Given the description of an element on the screen output the (x, y) to click on. 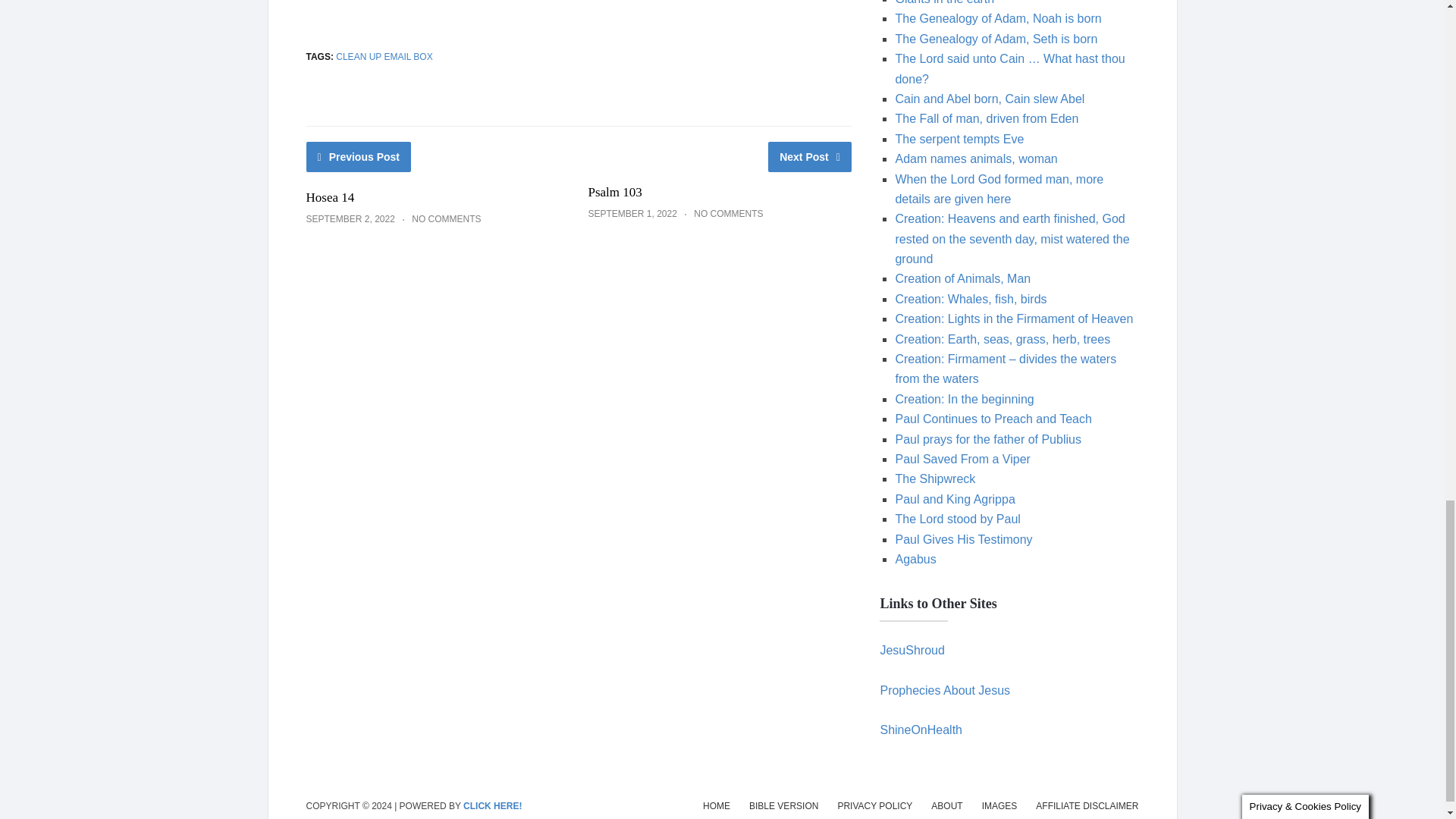
Hosea 14 (330, 197)
Next Post (809, 156)
NO COMMENTS (728, 213)
Previous Post (358, 156)
CLEAN UP EMAIL BOX (384, 56)
NO COMMENTS (446, 218)
Psalm 103 (615, 192)
